Given the description of an element on the screen output the (x, y) to click on. 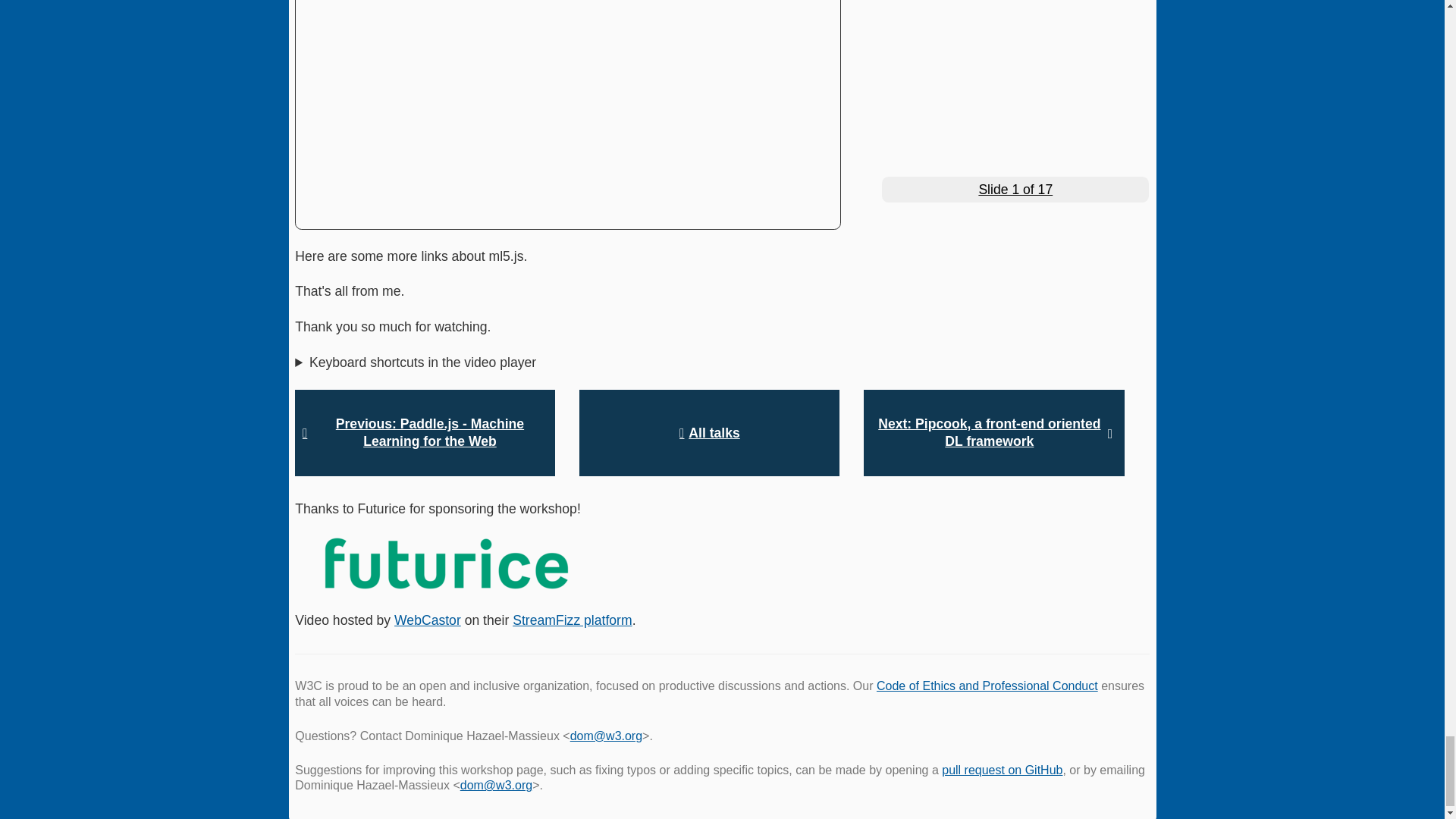
StreamFizz platform (571, 620)
All talks (709, 432)
Previous: Paddle.js - Machine Learning for the Web (424, 432)
WebCastor (427, 620)
